Given the description of an element on the screen output the (x, y) to click on. 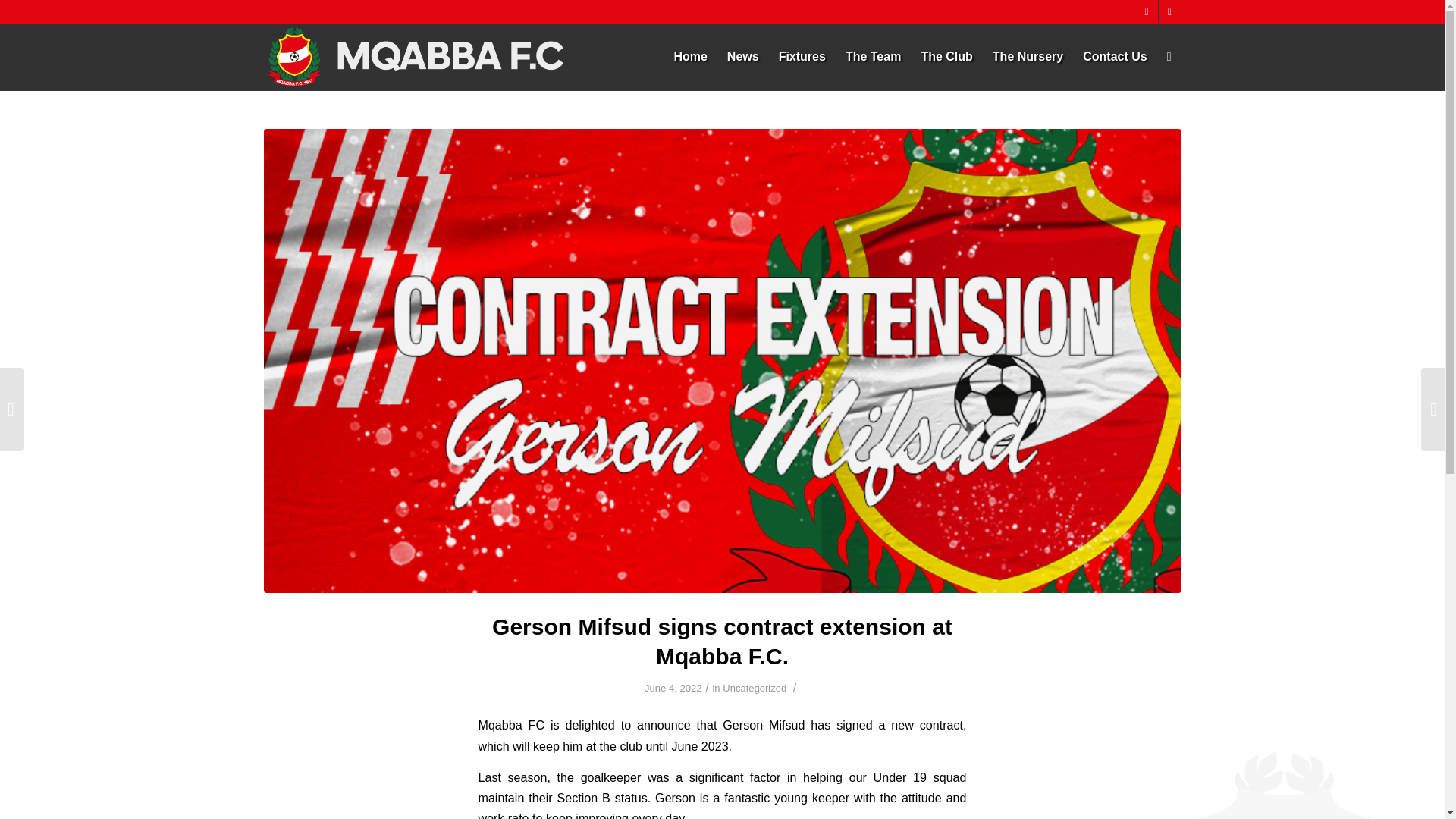
Instagram (1146, 11)
Fixtures (801, 56)
Contact Us (1114, 56)
Facebook (1169, 11)
Gerson Mifsud signs contract extension at Mqabba F.C. (722, 641)
The Team (873, 56)
The Club (946, 56)
The Nursery (1027, 56)
Uncategorized (754, 687)
